Given the description of an element on the screen output the (x, y) to click on. 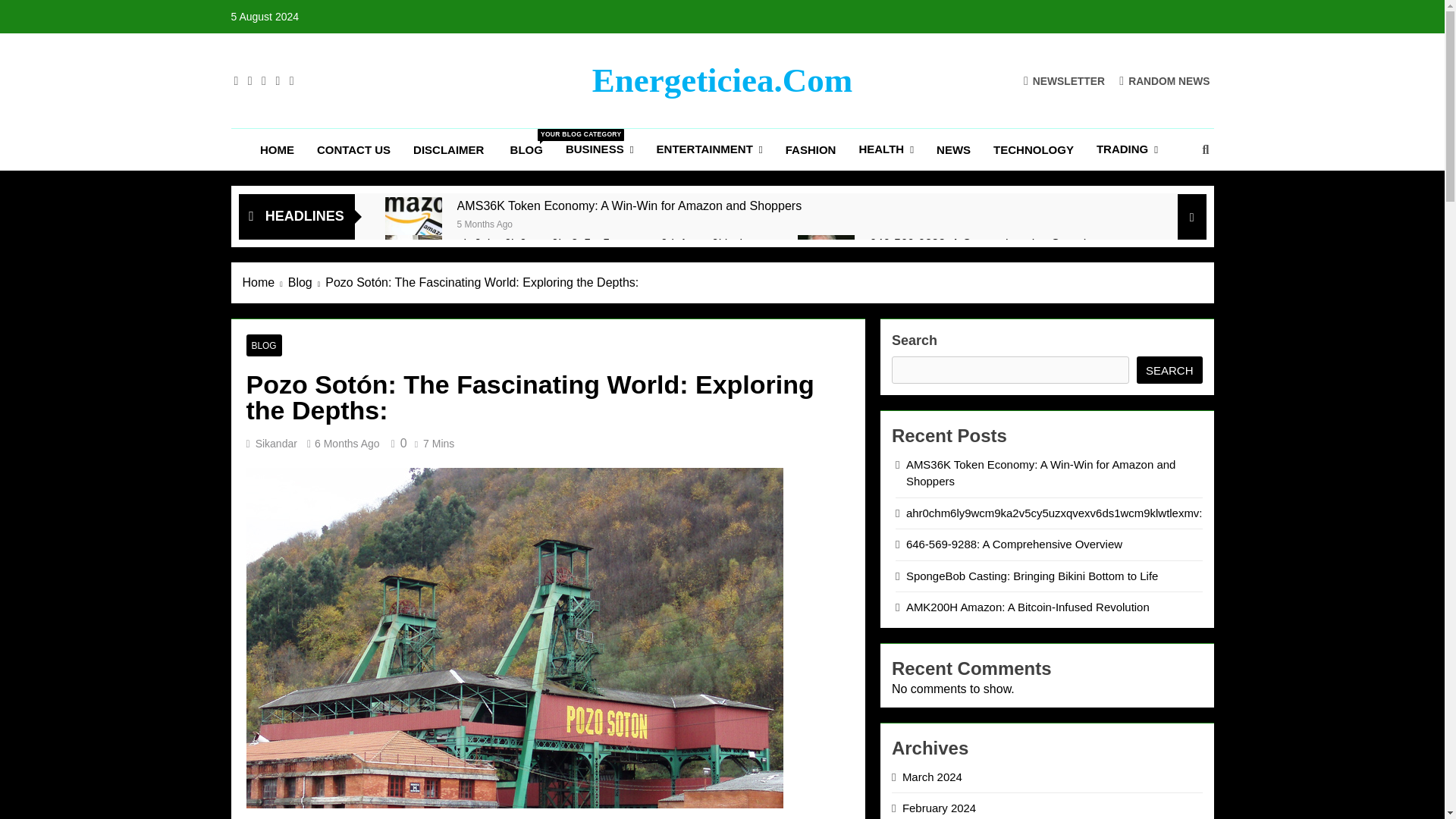
CONTACT US (353, 148)
646-569-9288: A Comprehensive Overview (985, 243)
BUSINESS (599, 149)
ENTERTAINMENT (709, 149)
DISCLAIMER  (450, 148)
ahr0chm6ly9wcm9ka2v5cy5uzxqvexv6ds1wcm9klwtlexmv: (615, 243)
TRADING (1126, 149)
AMS36K Token Economy: A Win-Win for Amazon and Shoppers (413, 225)
NEWS (952, 148)
ahr0chm6ly9wcm9ka2v5cy5uzxqvexv6ds1wcm9klwtlexmv: (413, 263)
